Given the description of an element on the screen output the (x, y) to click on. 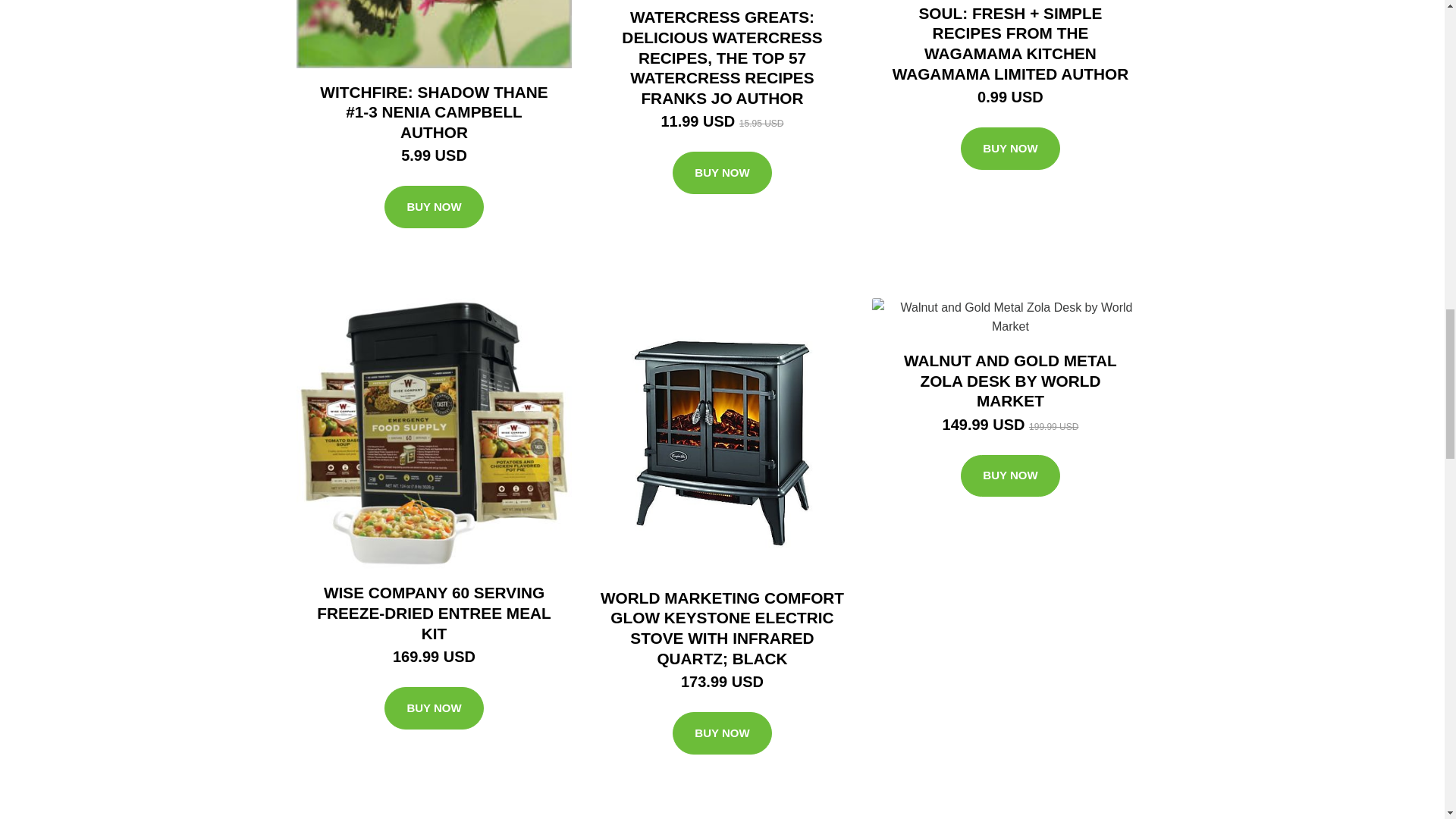
BUY NOW (1009, 148)
BUY NOW (433, 206)
WISE COMPANY 60 SERVING FREEZE-DRIED ENTREE MEAL KIT (434, 612)
BUY NOW (721, 172)
BUY NOW (433, 708)
